Given the description of an element on the screen output the (x, y) to click on. 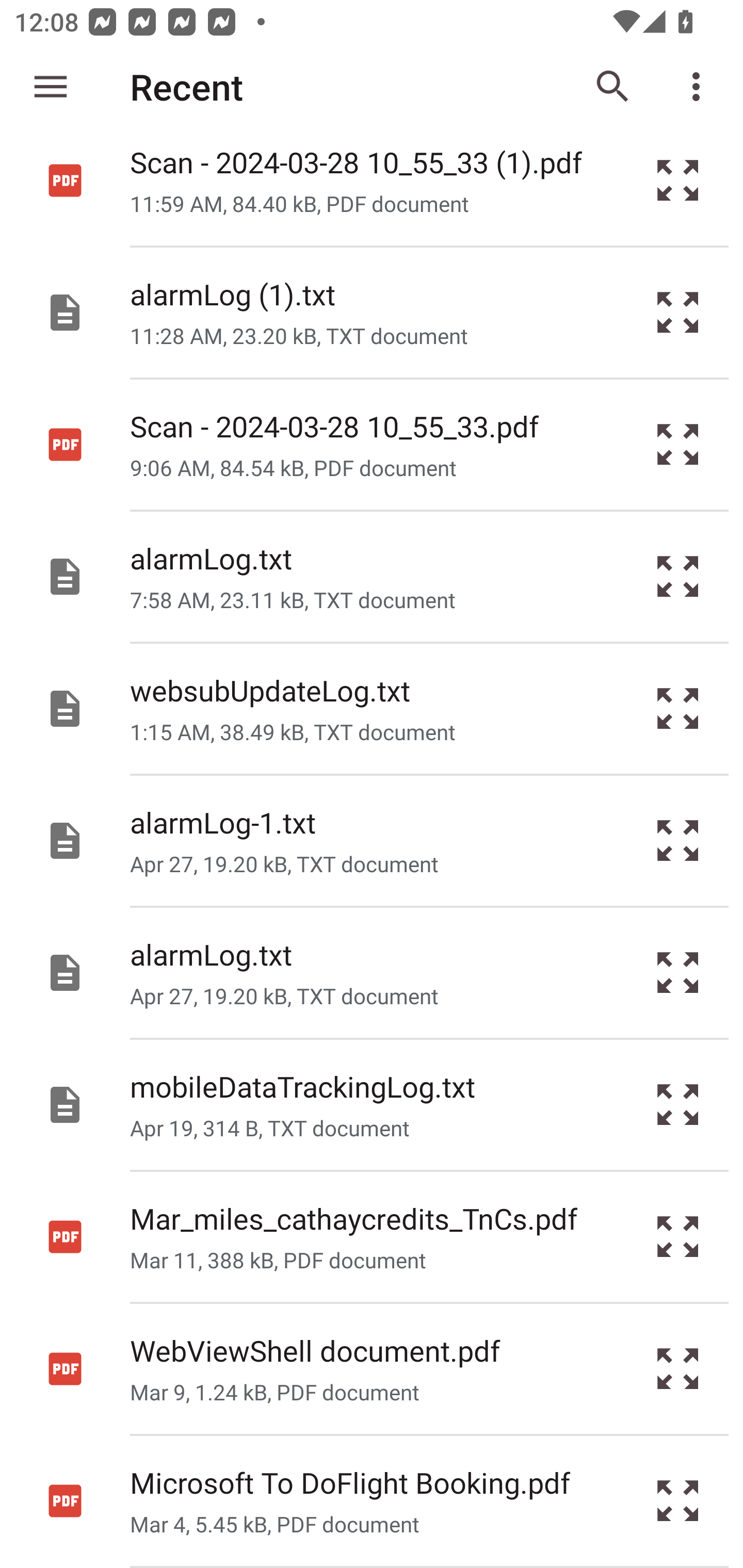
Show roots (50, 86)
Search (612, 86)
More options (699, 86)
Preview the file alarmLog (1).txt (677, 312)
Preview the file Scan - 2024-03-28 10_55_33.pdf (677, 444)
Preview the file alarmLog.txt (677, 576)
Preview the file websubUpdateLog.txt (677, 708)
Preview the file alarmLog-1.txt (677, 841)
Preview the file alarmLog.txt (677, 972)
Preview the file mobileDataTrackingLog.txt (677, 1104)
Preview the file Mar_miles_cathaycredits_TnCs.pdf (677, 1236)
Preview the file WebViewShell document.pdf (677, 1368)
Preview the file Microsoft To DoFlight Booking.pdf (677, 1501)
